Given the description of an element on the screen output the (x, y) to click on. 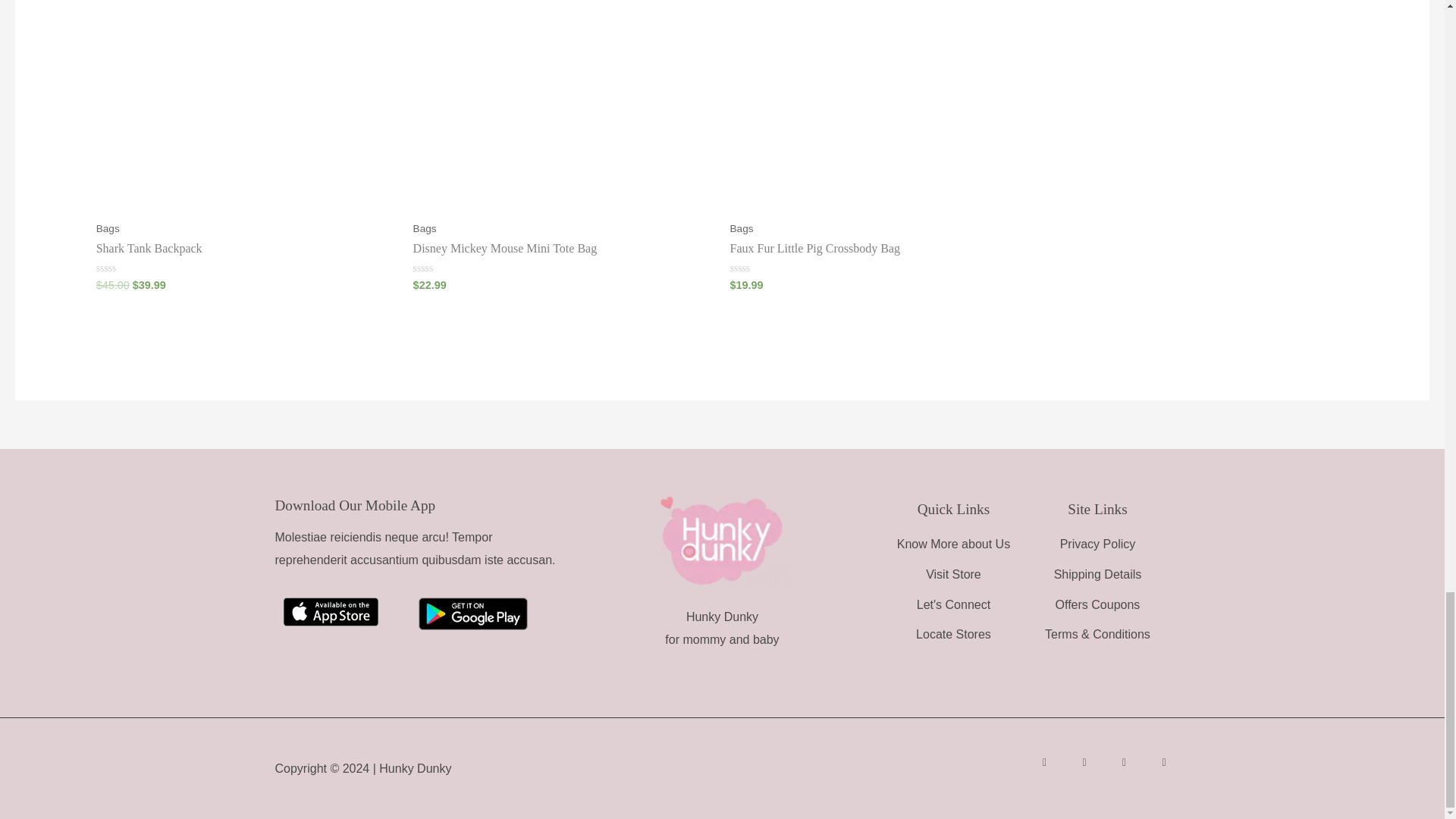
Locate Stores (952, 634)
Privacy Policy (1096, 544)
Know More about Us (952, 544)
Shark Tank Backpack (246, 248)
Let's Connect (952, 604)
Visit Store (952, 574)
Disney Mickey Mouse Mini Tote Bag (563, 248)
Faux Fur Little Pig Crossbody Bag (879, 248)
